Given the description of an element on the screen output the (x, y) to click on. 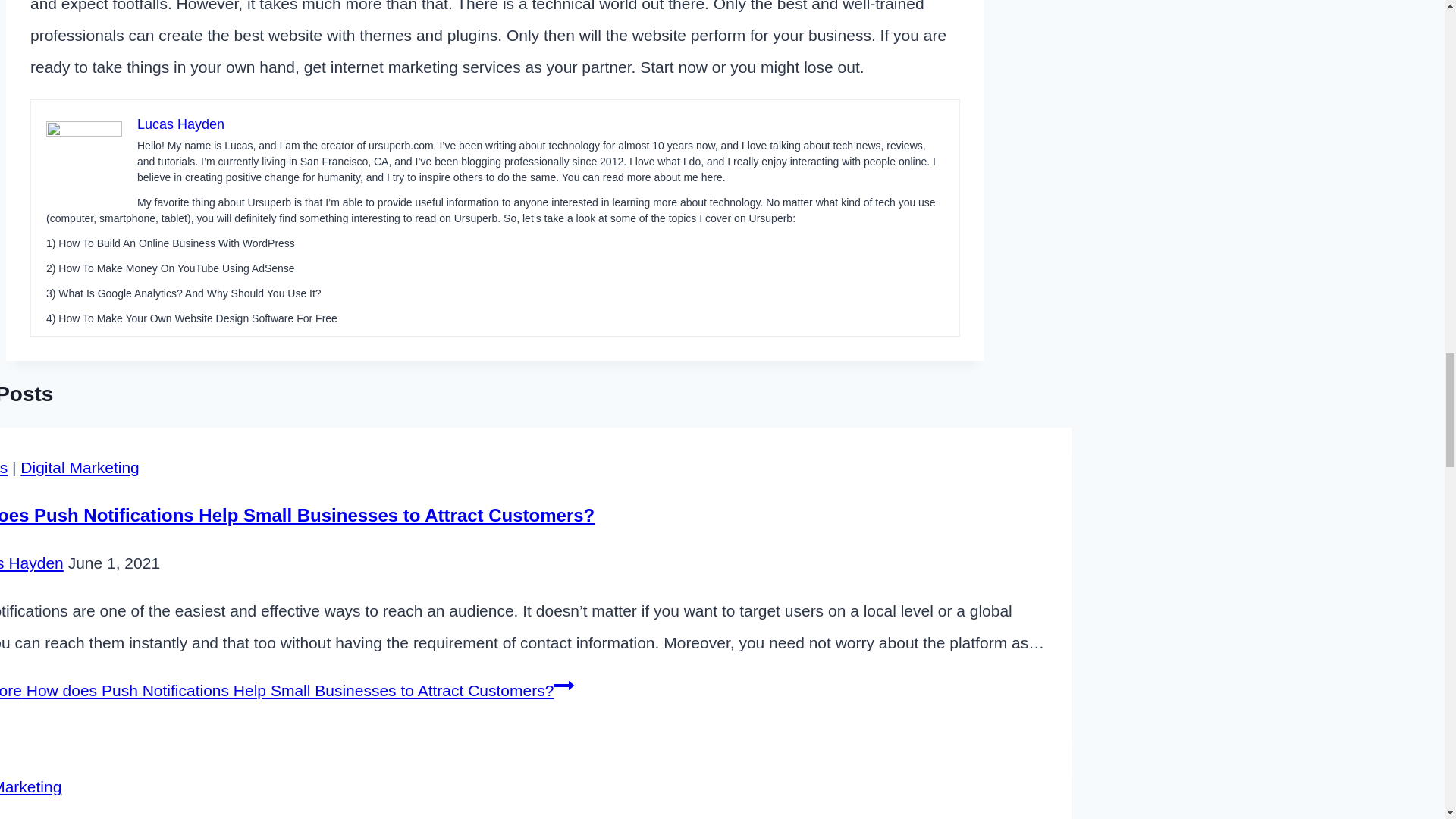
Digital Marketing (79, 466)
Business (3, 466)
Digital Marketing (30, 786)
Continue (563, 685)
Lucas Hayden (32, 562)
Lucas Hayden (180, 124)
